Given the description of an element on the screen output the (x, y) to click on. 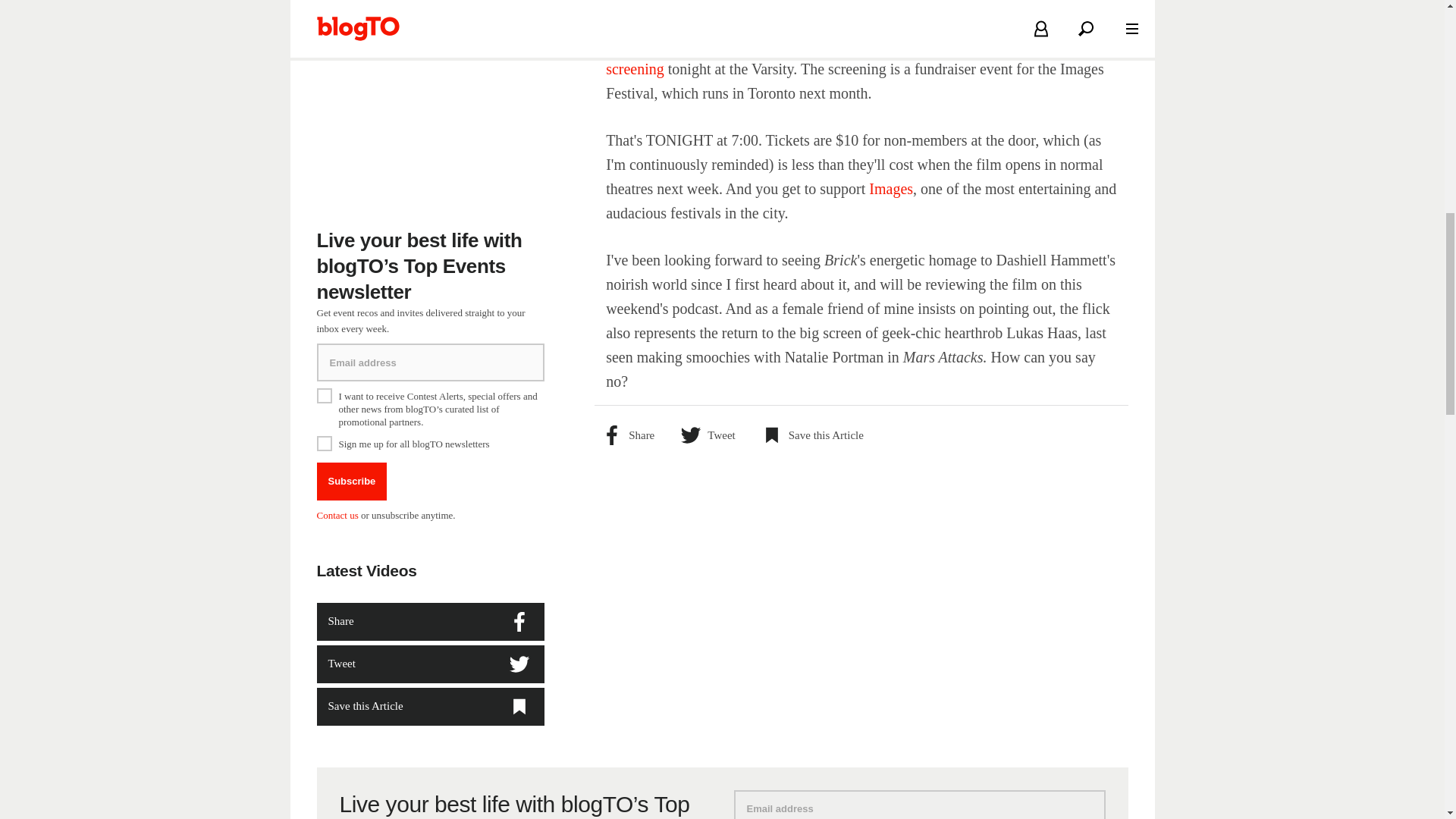
Subscribe (352, 481)
